Given the description of an element on the screen output the (x, y) to click on. 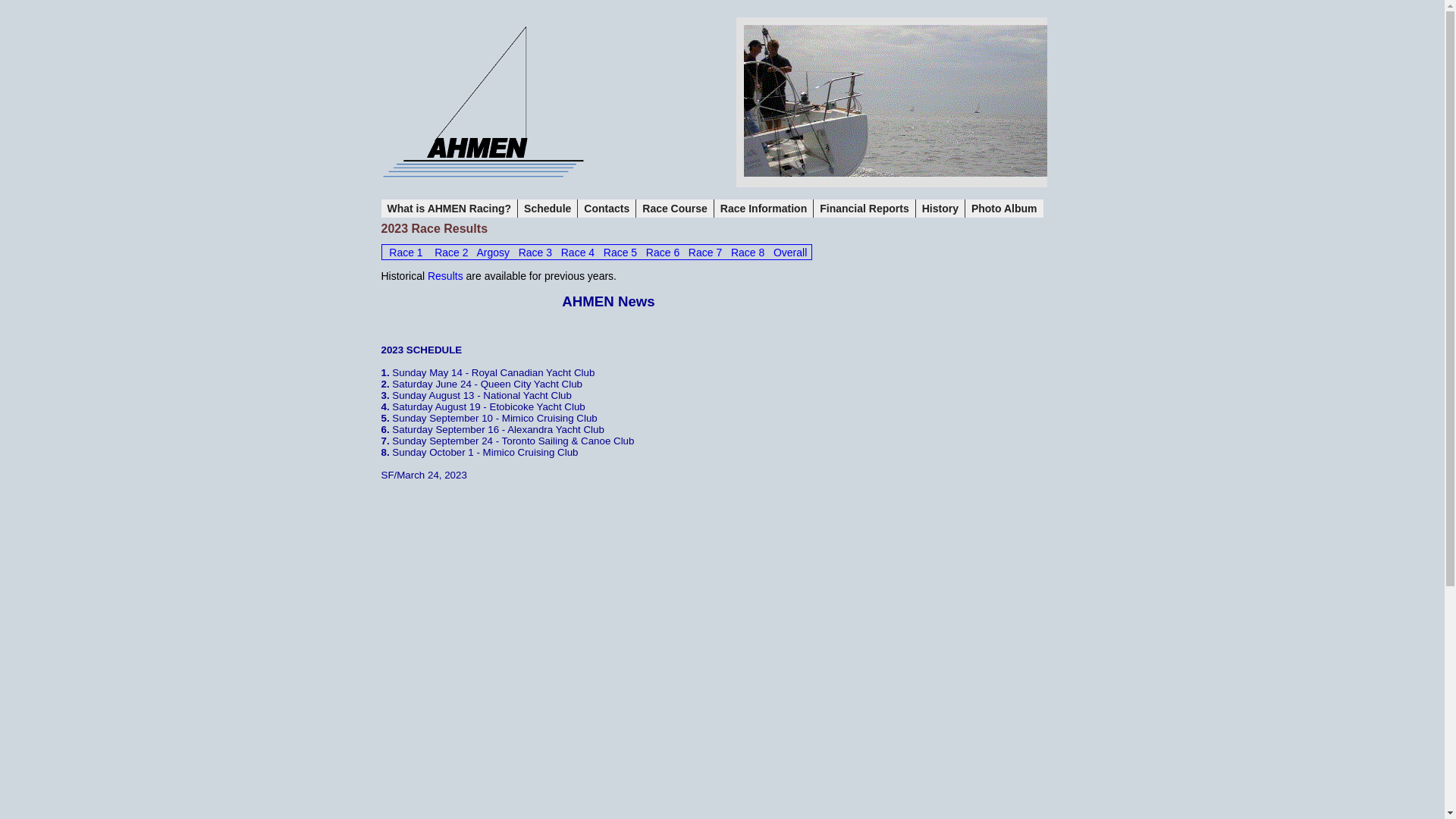
Race 7 Element type: text (704, 252)
Financial Reports Element type: text (864, 208)
Schedule Element type: text (547, 208)
Race 8 Element type: text (747, 252)
Overall Element type: text (789, 252)
Race 3 Element type: text (535, 252)
Race 5 Element type: text (620, 252)
Results Element type: text (445, 275)
What is AHMEN Racing? Element type: text (448, 208)
Race Course Element type: text (675, 208)
Contacts Element type: text (606, 208)
Race 2 Element type: text (450, 252)
Race 4 Element type: text (577, 252)
Photo Album Element type: text (1004, 208)
History Element type: text (940, 208)
Race 1 Element type: text (405, 252)
Argosy Element type: text (492, 252)
Race Information Element type: text (763, 208)
Race 6 Element type: text (662, 252)
